Given the description of an element on the screen output the (x, y) to click on. 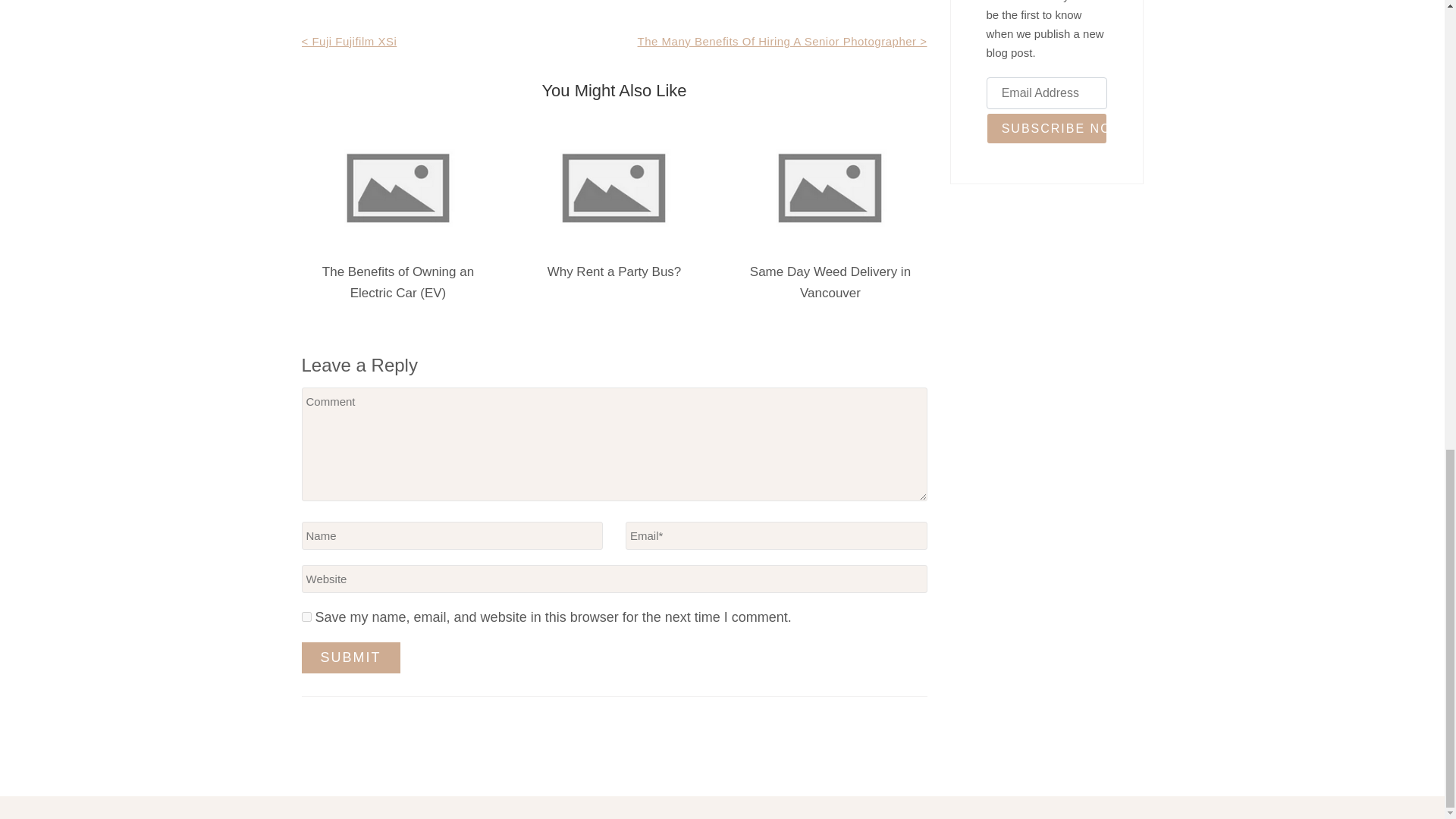
yes (306, 616)
SUBSCRIBE NOW (1045, 128)
Same Day Weed Delivery in Vancouver (830, 282)
Submit (350, 657)
SUBSCRIBE NOW (1045, 128)
Why Rent a Party Bus? (614, 271)
Submit (350, 657)
